Given the description of an element on the screen output the (x, y) to click on. 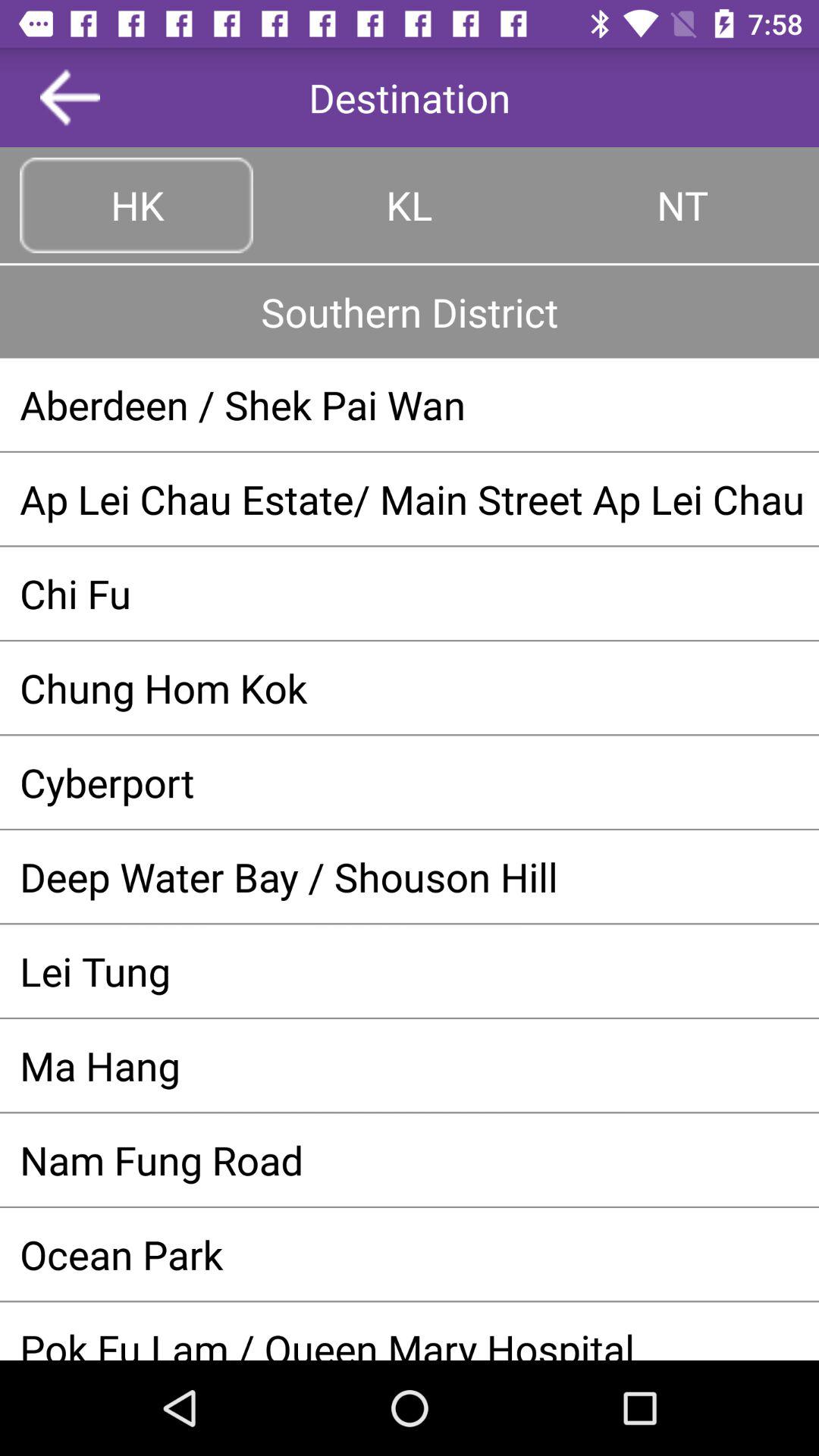
swipe to the ma hang (409, 1065)
